Given the description of an element on the screen output the (x, y) to click on. 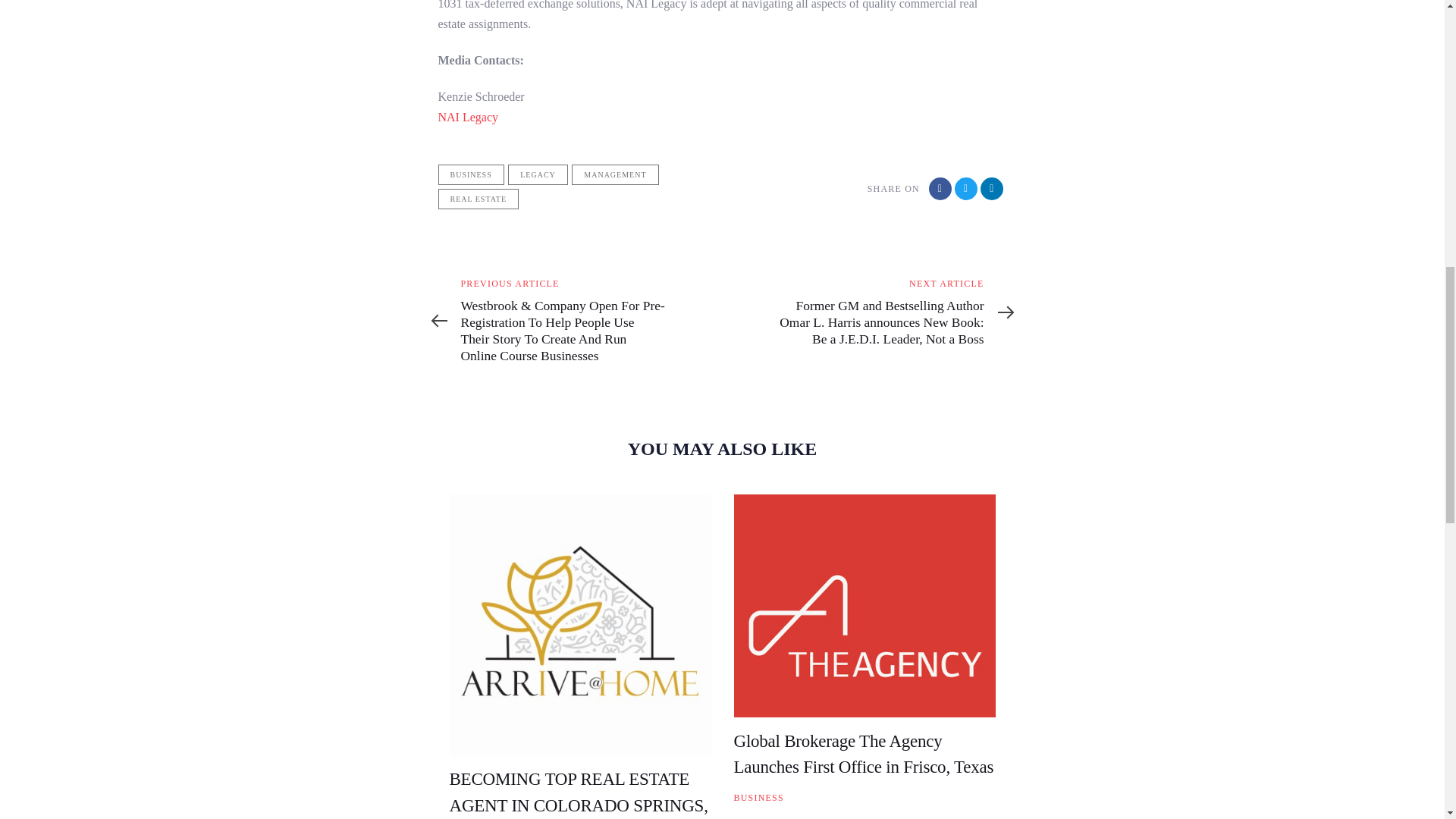
BUSINESS (758, 797)
MANAGEMENT (615, 174)
REAL ESTATE (478, 199)
NAI Legacy (468, 116)
LEGACY (537, 174)
BUSINESS (470, 174)
